Given the description of an element on the screen output the (x, y) to click on. 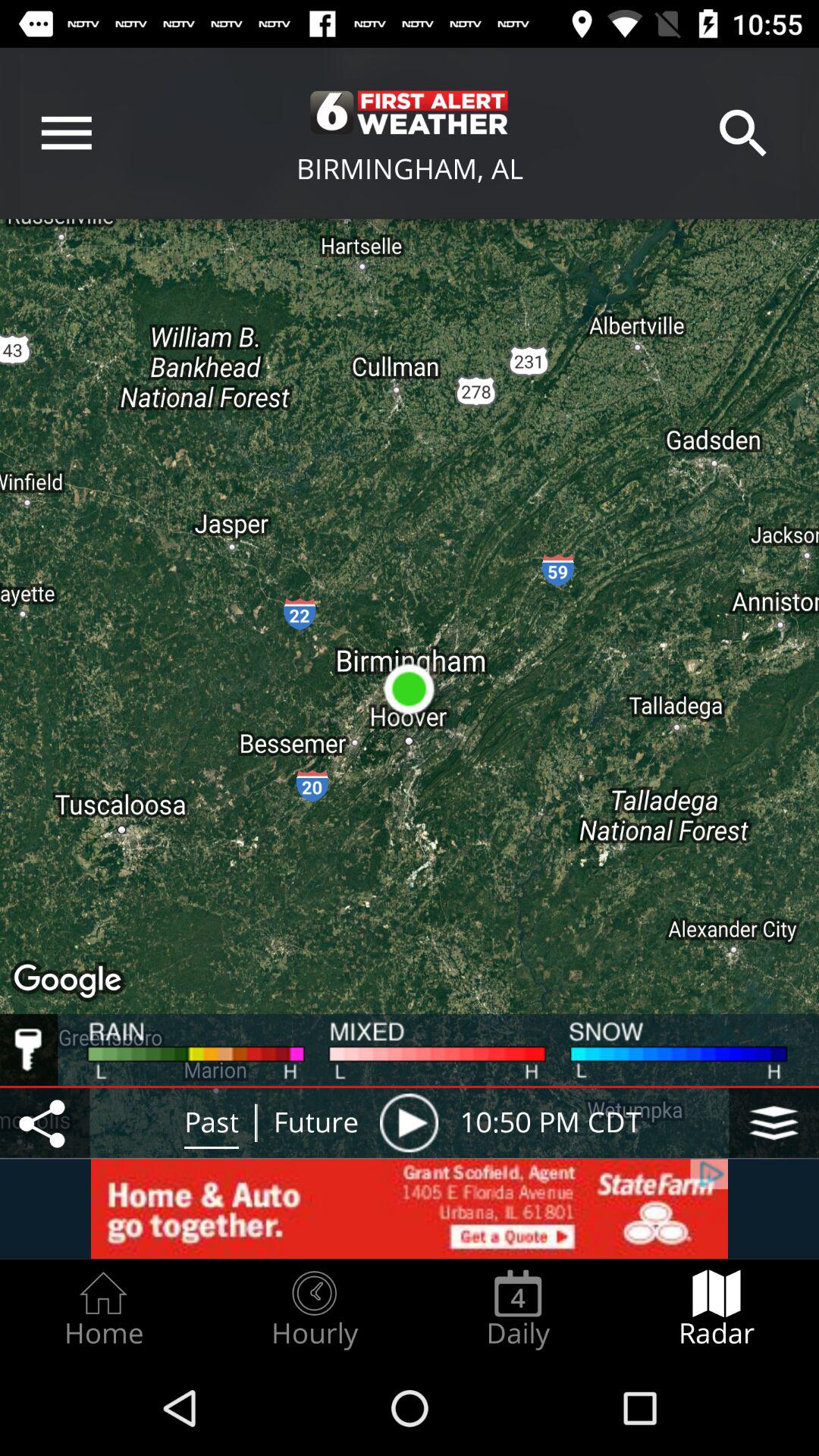
flip until daily item (518, 1309)
